Given the description of an element on the screen output the (x, y) to click on. 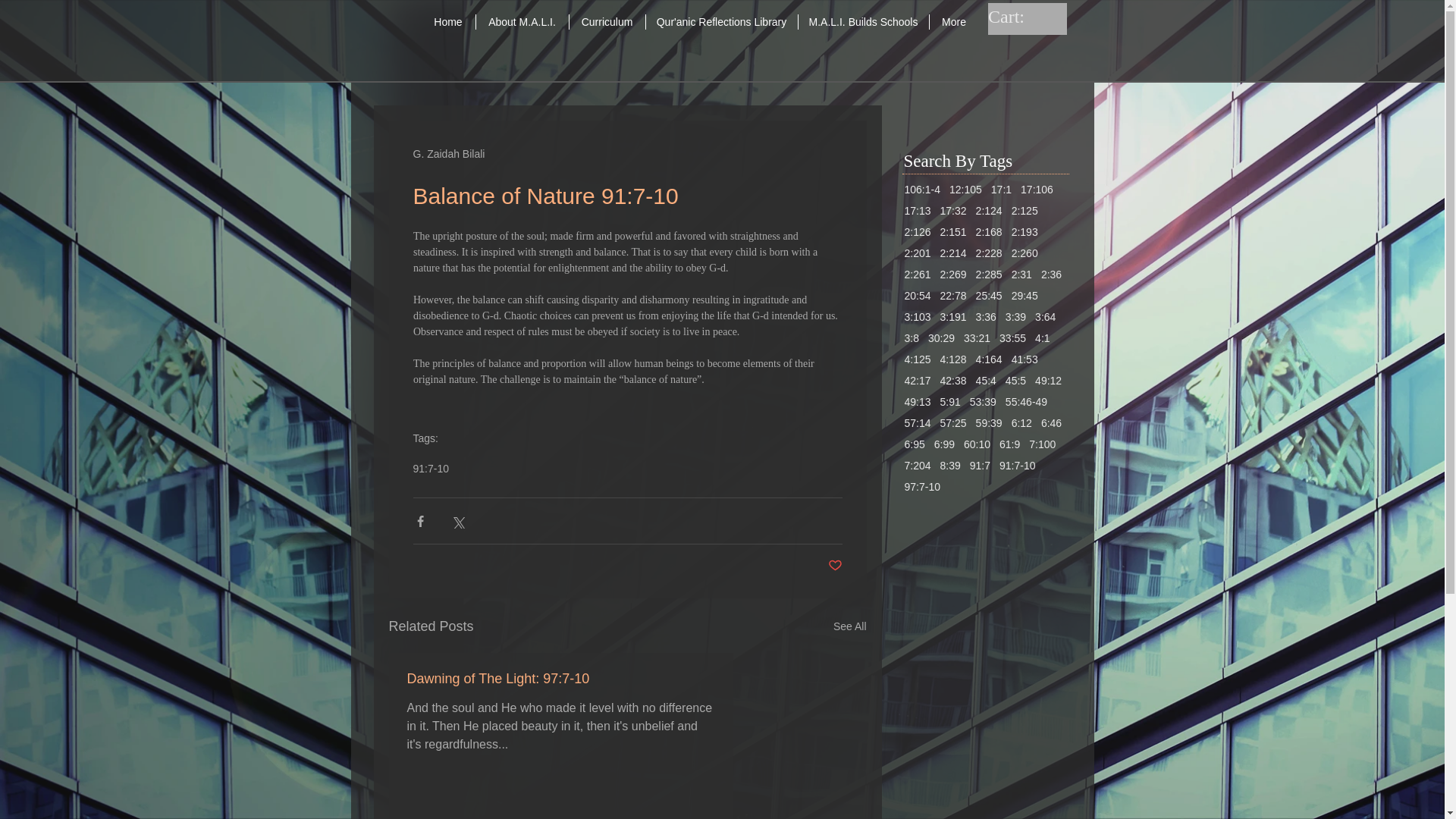
Post not marked as liked (835, 565)
106:1-4 (921, 189)
Qur'anic Reflections Library (721, 21)
About M.A.L.I. (522, 21)
12:105 (965, 189)
2:260 (1024, 253)
2:285 (989, 274)
17:13 (917, 210)
17:106 (1036, 189)
2:261 (917, 274)
17:32 (953, 210)
2:151 (953, 232)
2:269 (953, 274)
2:168 (989, 232)
G. Zaidah Bilali (448, 153)
